Given the description of an element on the screen output the (x, y) to click on. 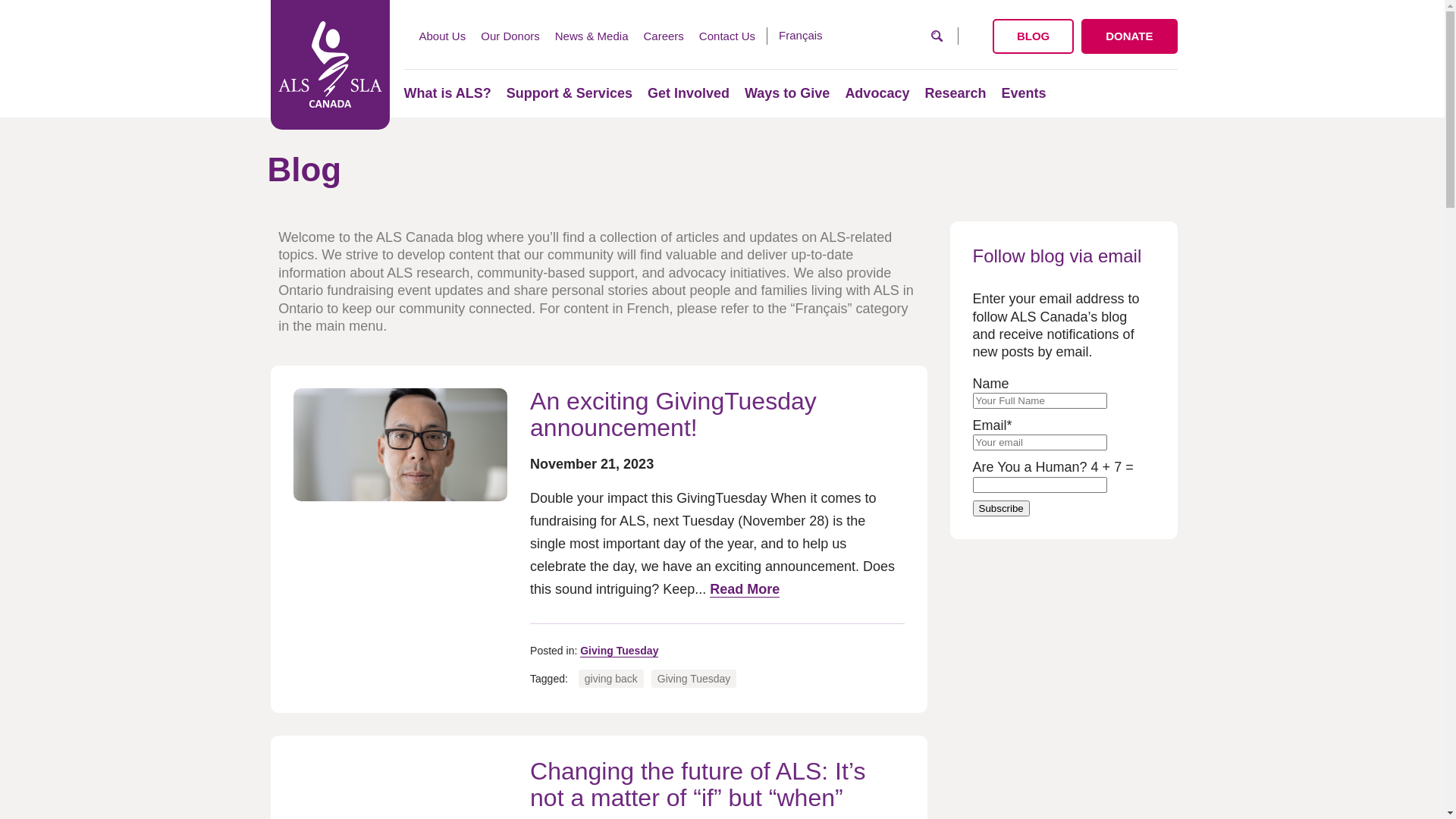
About Us Element type: text (441, 36)
News & Media Element type: text (591, 36)
An exciting GivingTuesday announcement! Element type: text (673, 414)
Research Element type: text (954, 92)
Read More Element type: text (744, 589)
Ways to Give Element type: text (786, 92)
Careers Element type: text (663, 36)
DONATE Element type: text (1128, 35)
Get Involved Element type: text (688, 92)
Giving Tuesday Element type: text (694, 678)
Our Donors Element type: text (509, 36)
Advocacy Element type: text (876, 92)
Giving Tuesday Element type: text (619, 650)
giving back Element type: text (610, 678)
BLOG Element type: text (1032, 35)
Events Element type: text (1023, 92)
Subscribe Element type: text (1000, 508)
Support & Services Element type: text (569, 92)
What is ALS? Element type: text (446, 92)
Contact Us Element type: text (727, 36)
